Given the description of an element on the screen output the (x, y) to click on. 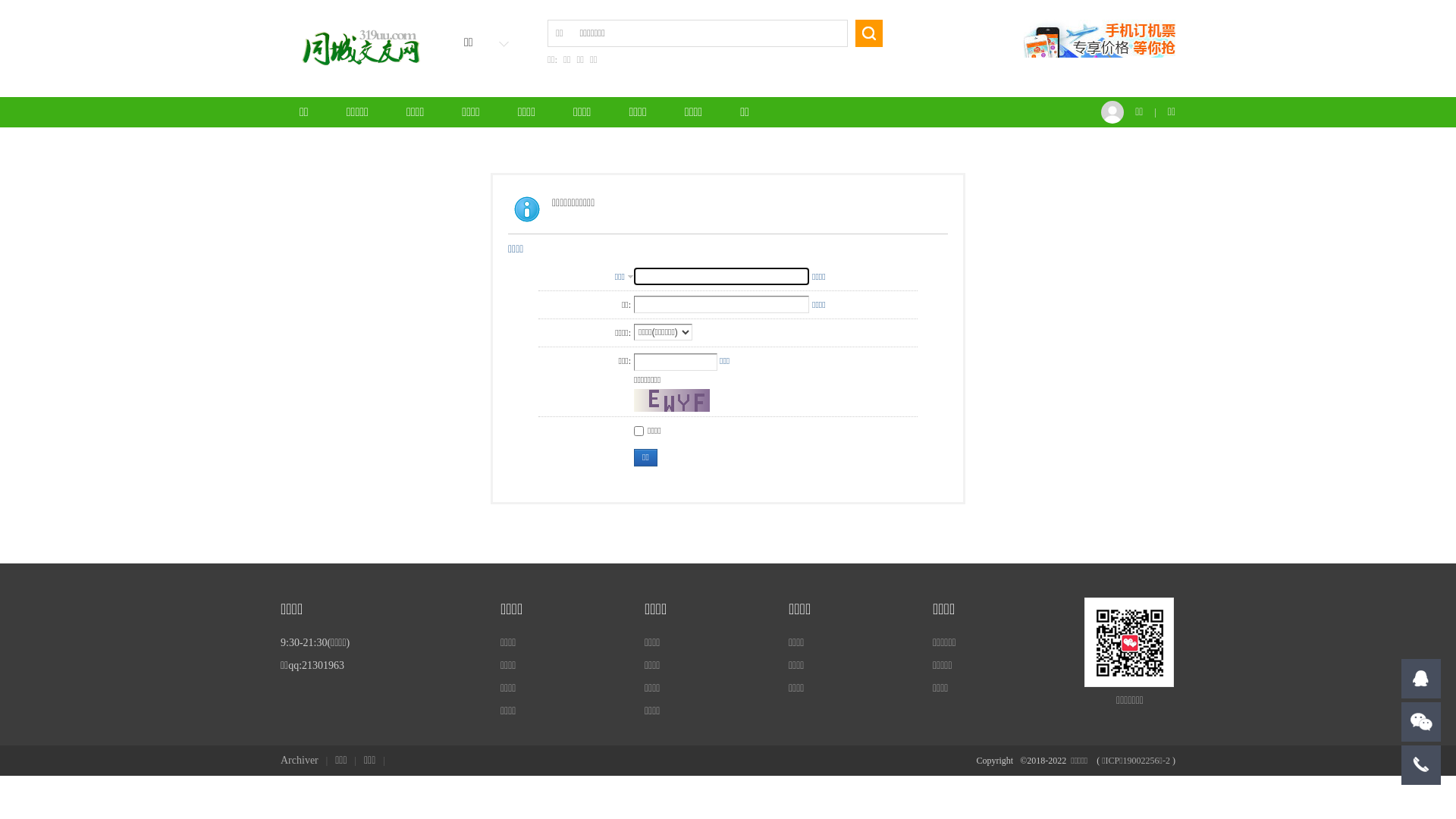
true Element type: text (868, 33)
Archiver Element type: text (299, 759)
